Given the description of an element on the screen output the (x, y) to click on. 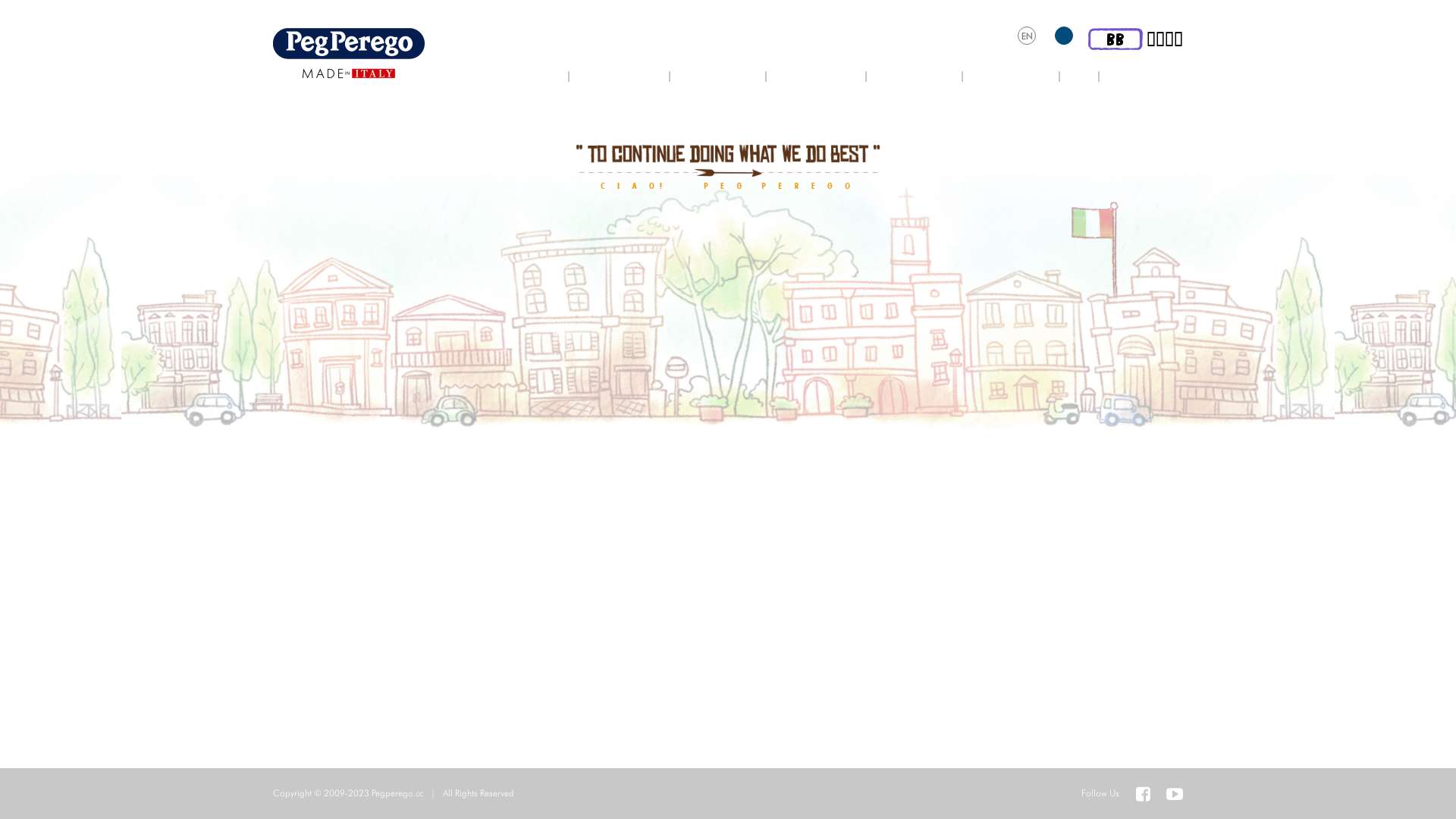
EN Element type: text (1026, 35)
